Given the description of an element on the screen output the (x, y) to click on. 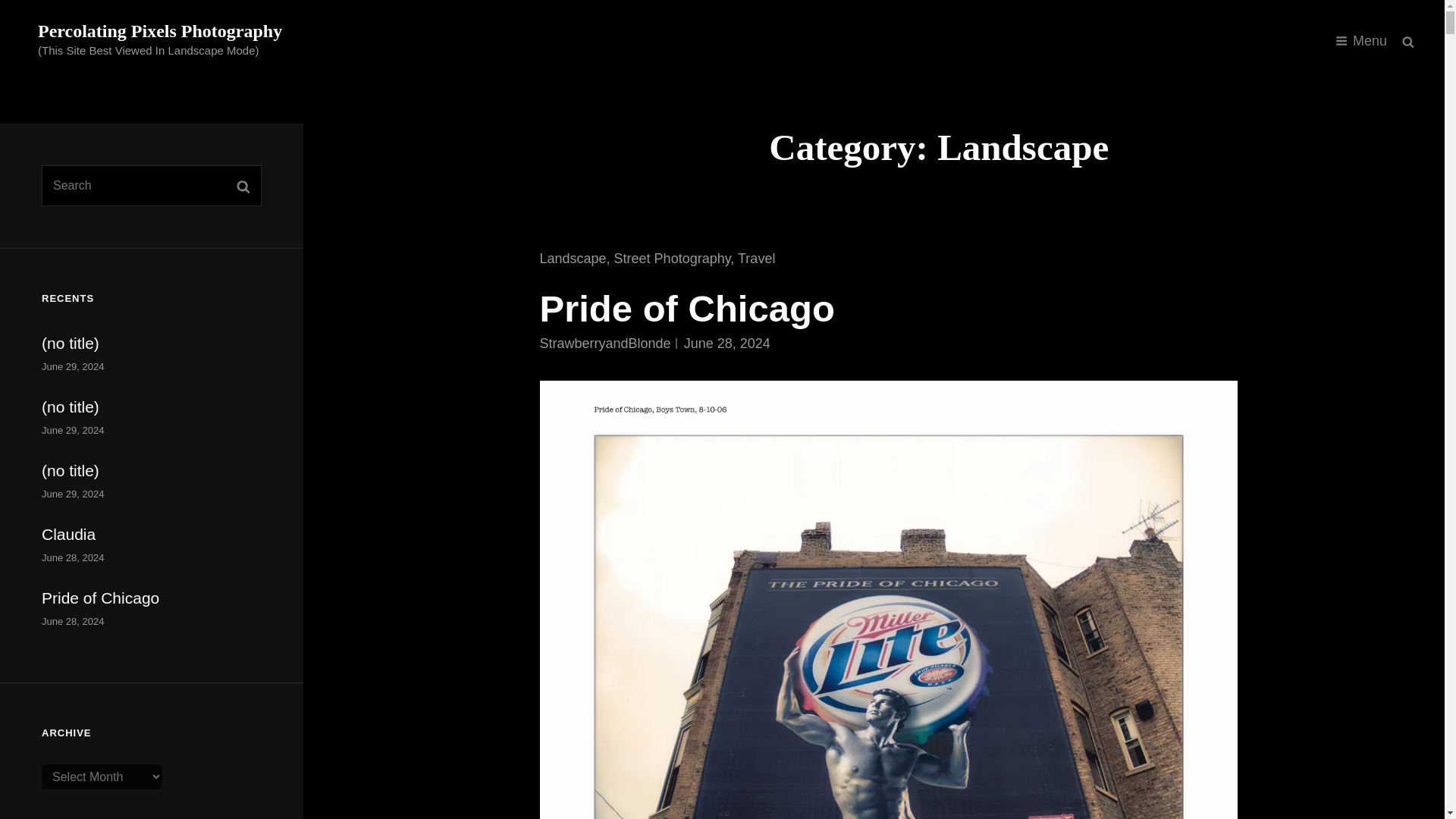
Landscape (573, 258)
Pride of Chicago (687, 308)
Street Photography (672, 258)
June 28, 2024 (727, 343)
Travel (756, 258)
Percolating Pixels Photography (159, 30)
StrawberryandBlonde (605, 343)
Menu (1360, 40)
Search (1408, 40)
